Given the description of an element on the screen output the (x, y) to click on. 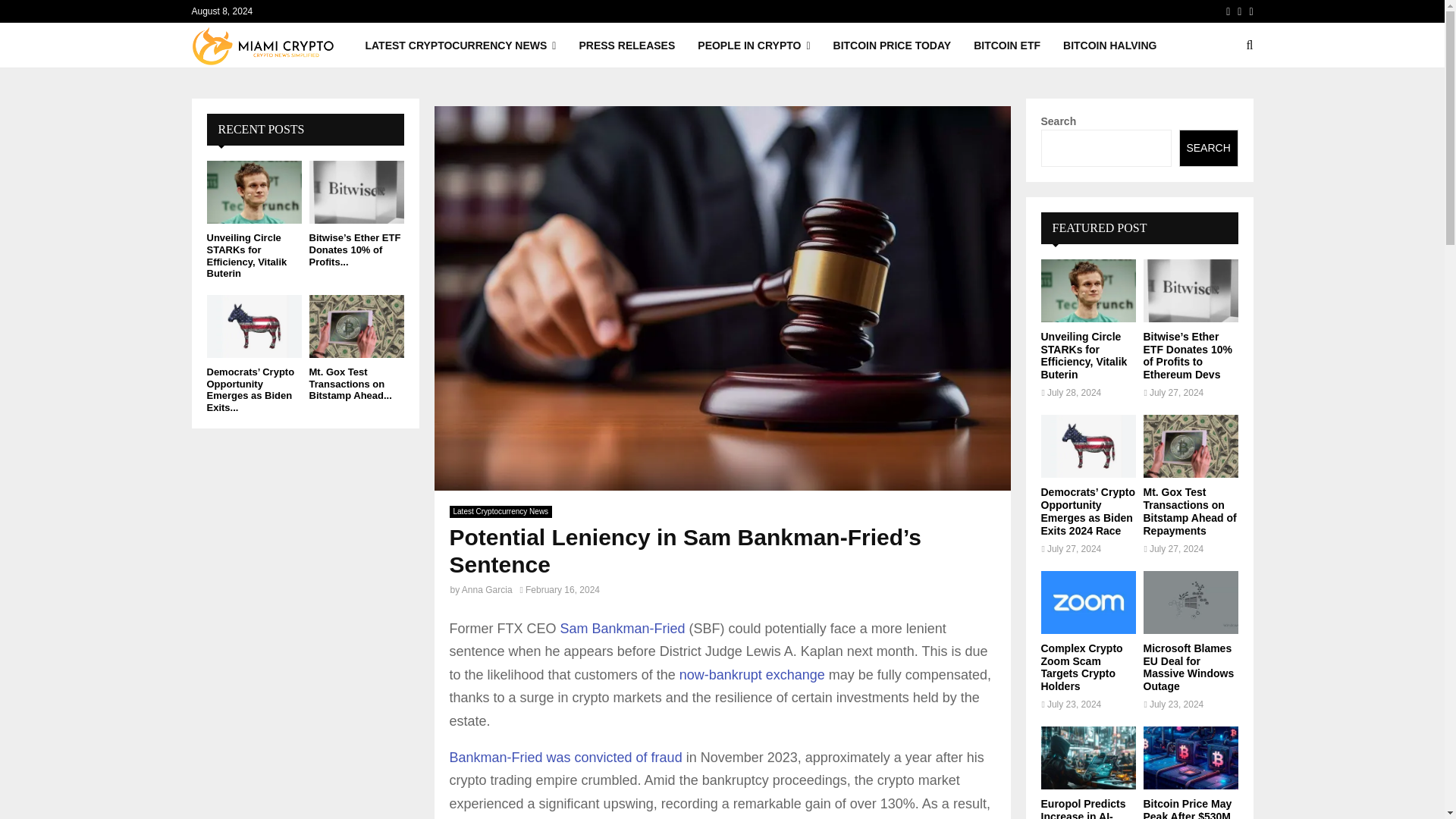
Latest Cryptocurrency News (499, 511)
Anna Garcia (486, 589)
BITCOIN HALVING (1109, 44)
PRESS RELEASES (626, 44)
BITCOIN PRICE TODAY (892, 44)
Unveiling Circle STARKs for Efficiency, Vitalik Buterin (253, 191)
BITCOIN ETF (1007, 44)
now-bankrupt exchange (752, 674)
PEOPLE IN CRYPTO (753, 44)
Sam Bankman-Fried (622, 628)
